Given the description of an element on the screen output the (x, y) to click on. 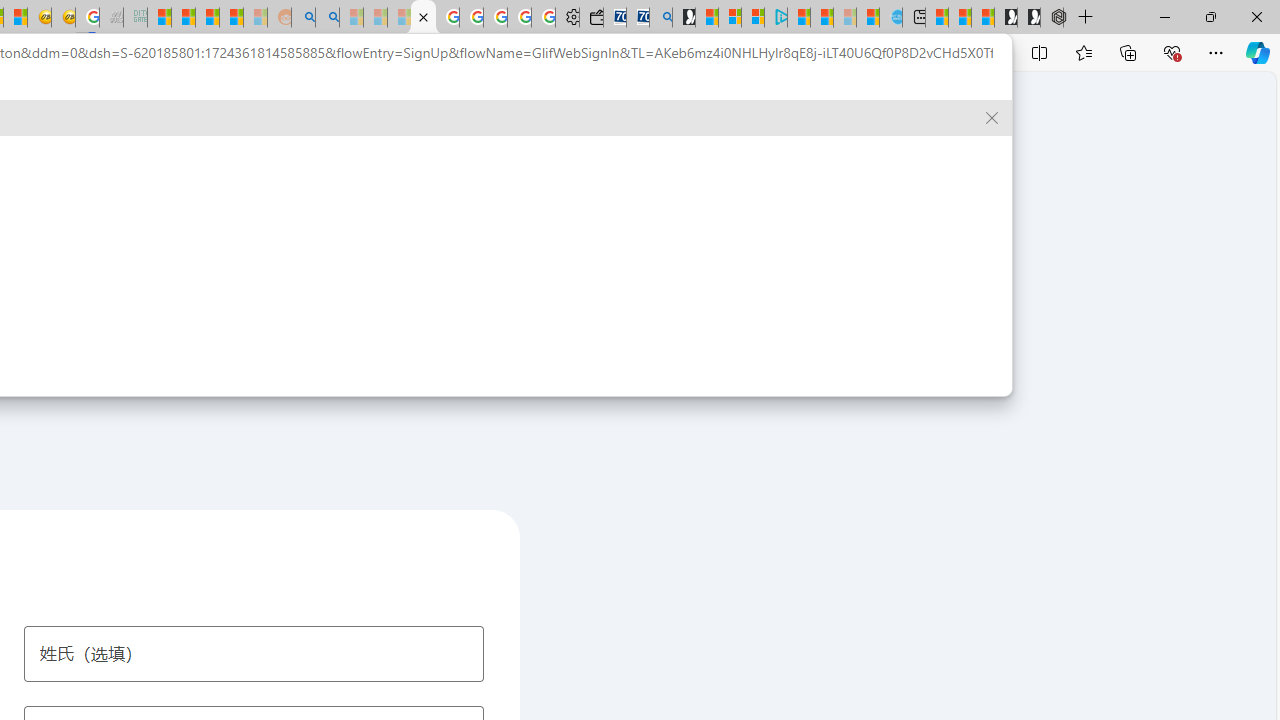
Utah sues federal government - Search (327, 17)
Remove suggestion (991, 117)
Bing Real Estate - Home sales and rental listings (660, 17)
Microsoft Start Gaming (684, 17)
DITOGAMES AG Imprint - Sleeping (135, 17)
